Given the description of an element on the screen output the (x, y) to click on. 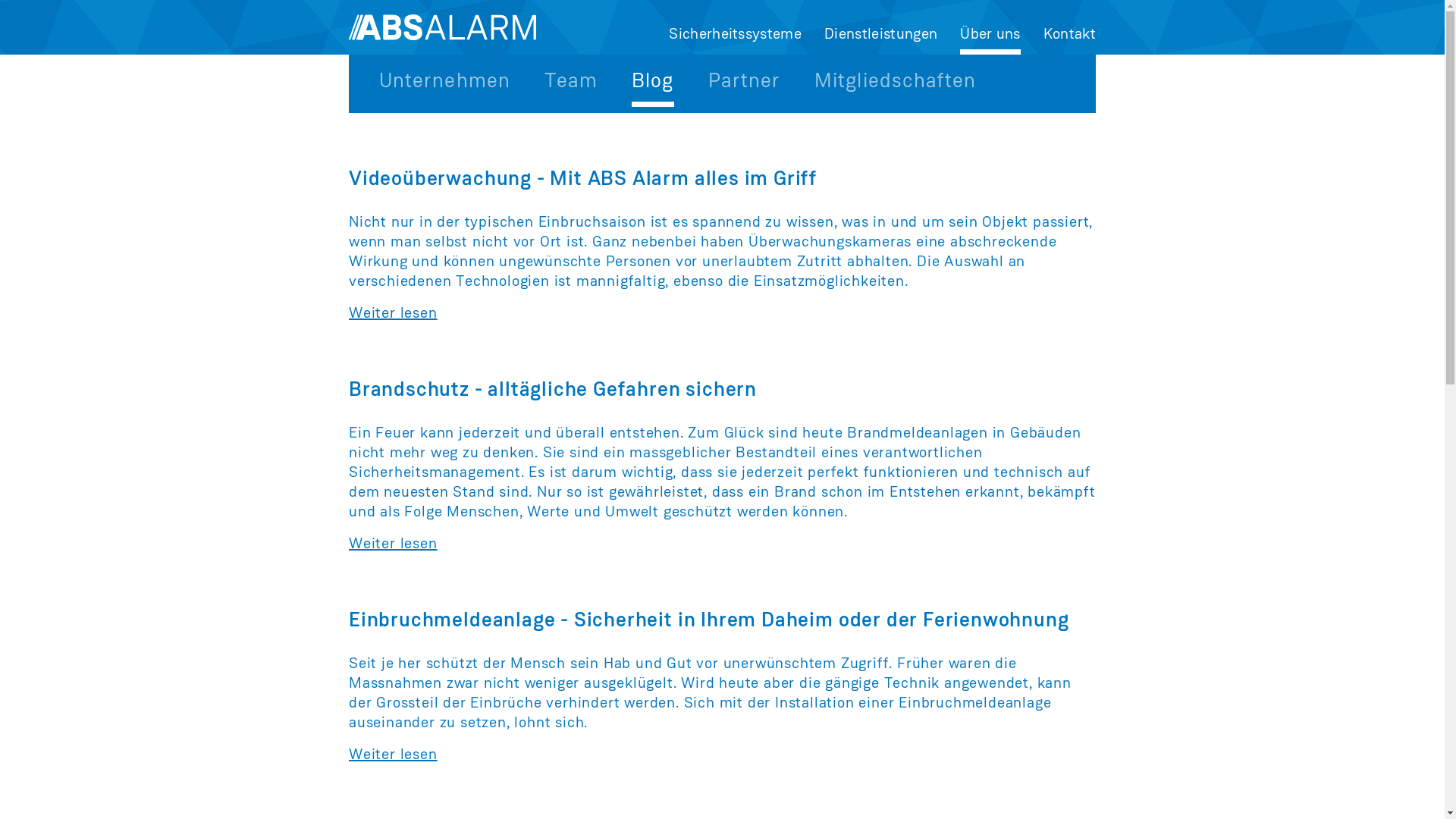
Weiter lesen Element type: text (392, 754)
Unternehmen Element type: text (444, 77)
Partner Element type: text (744, 77)
Blog Element type: text (652, 80)
Mitgliedschaften Element type: text (894, 77)
Team Element type: text (570, 77)
Kontakt Element type: text (1069, 35)
Sicherheitssysteme Element type: text (734, 35)
Dienstleistungen Element type: text (880, 35)
Weiter lesen Element type: text (392, 313)
Weiter lesen Element type: text (392, 544)
